Given the description of an element on the screen output the (x, y) to click on. 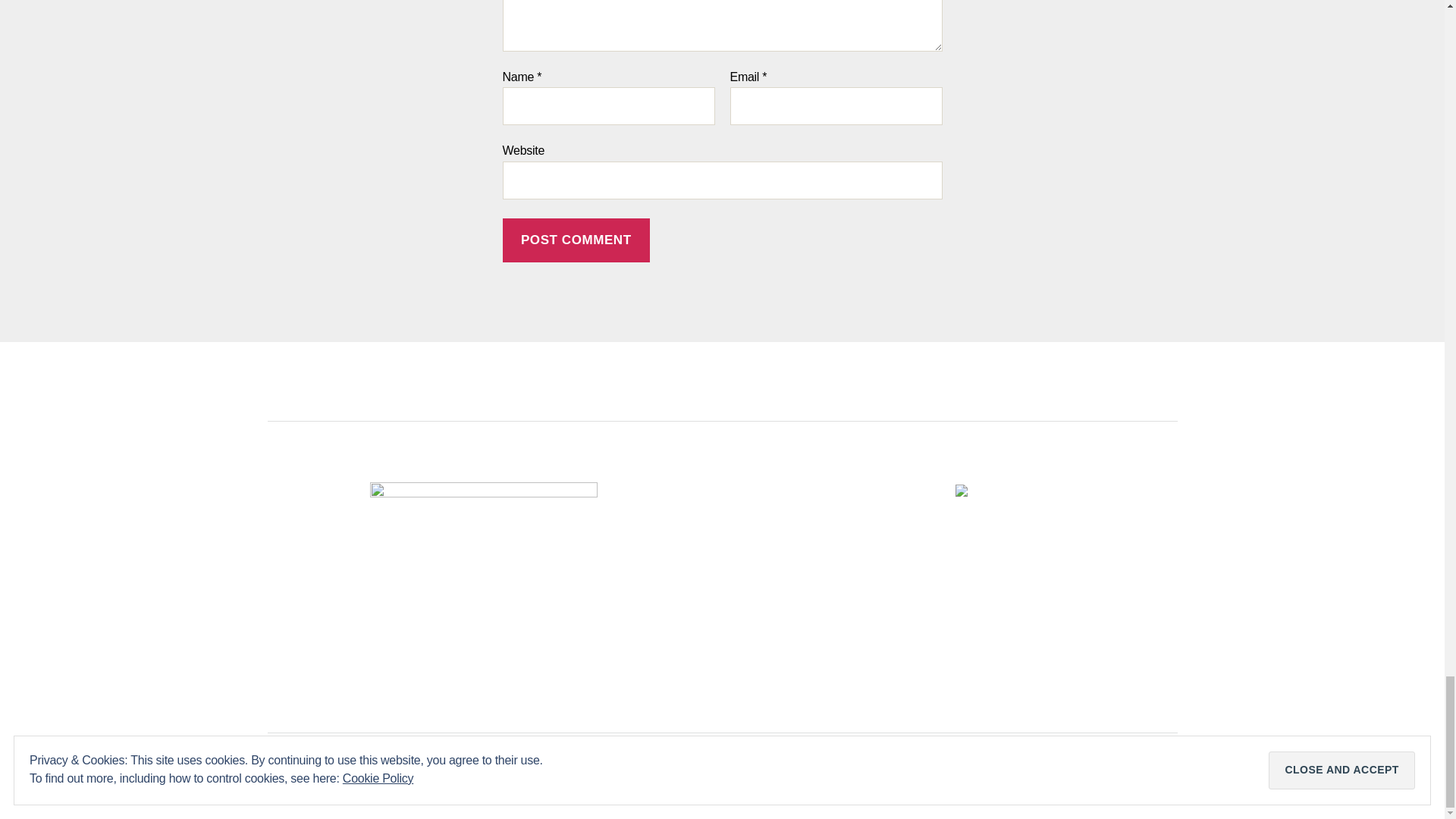
Post Comment (575, 240)
